Given the description of an element on the screen output the (x, y) to click on. 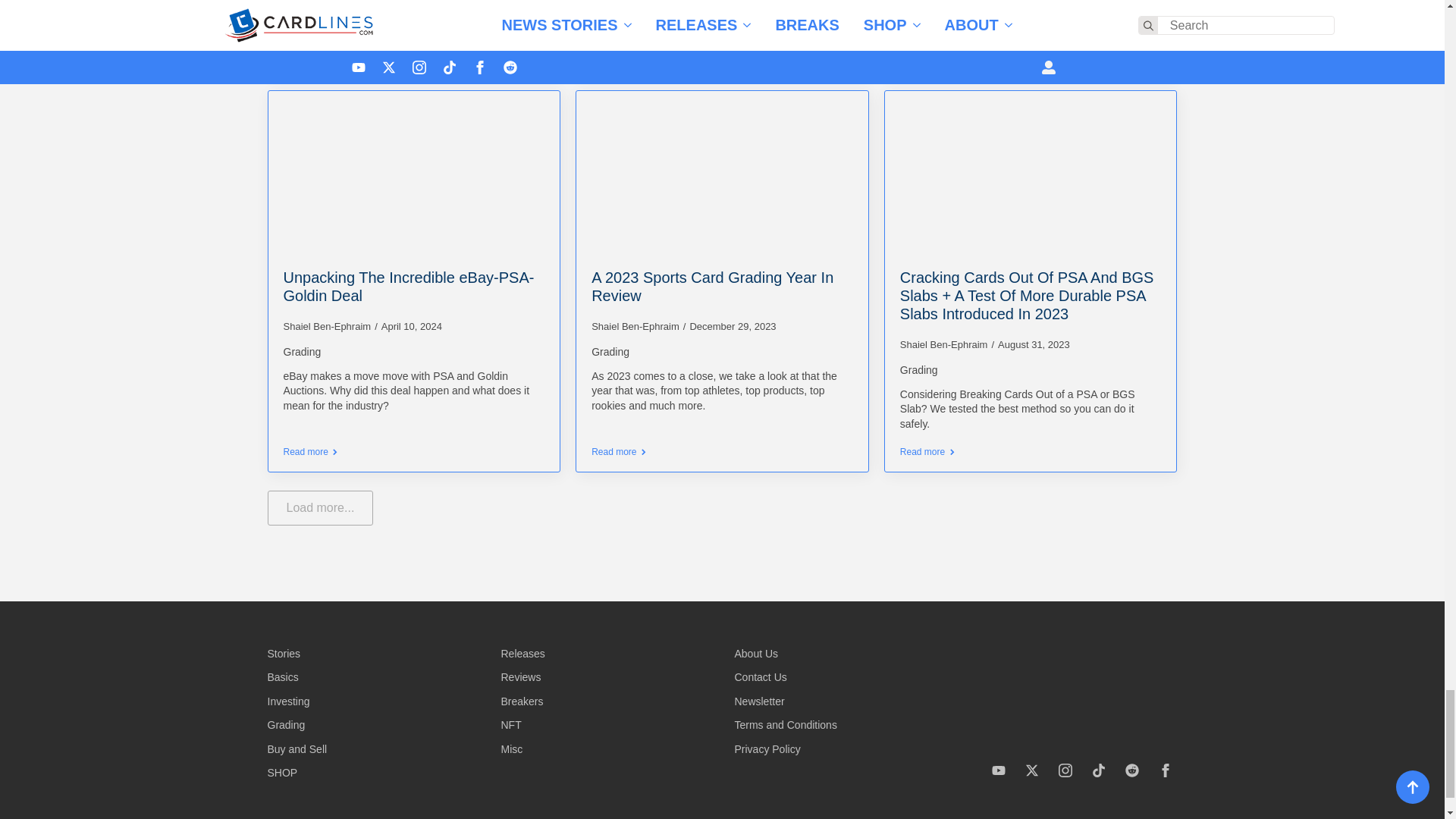
Posts by Shaiel Ben-Ephraim (635, 326)
Posts by Shaiel Ben-Ephraim (943, 344)
Posts by Shaiel Ben-Ephraim (327, 326)
